Given the description of an element on the screen output the (x, y) to click on. 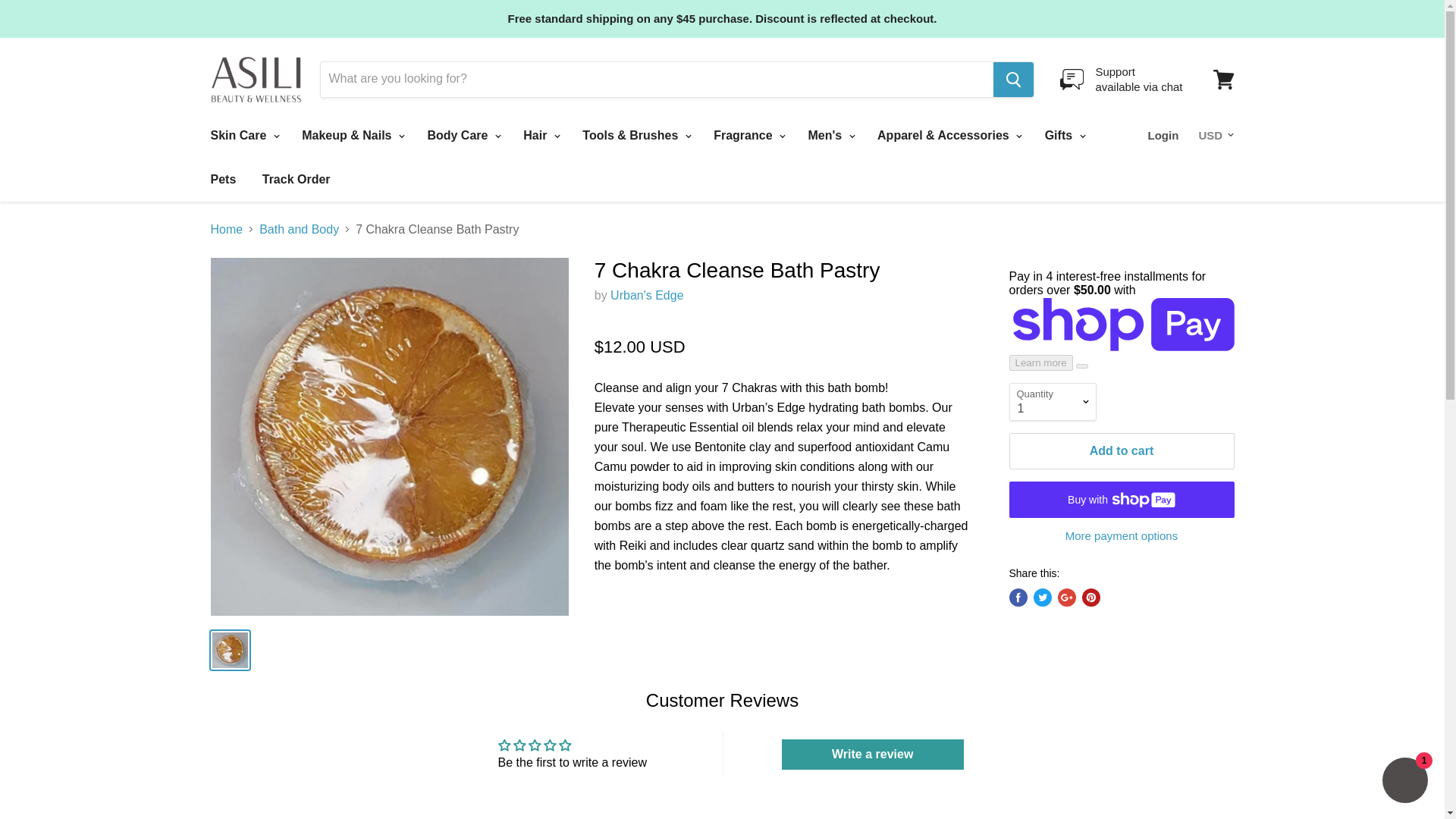
Urban's Edge (646, 295)
View cart (1120, 79)
Skin Care (1223, 79)
